Given the description of an element on the screen output the (x, y) to click on. 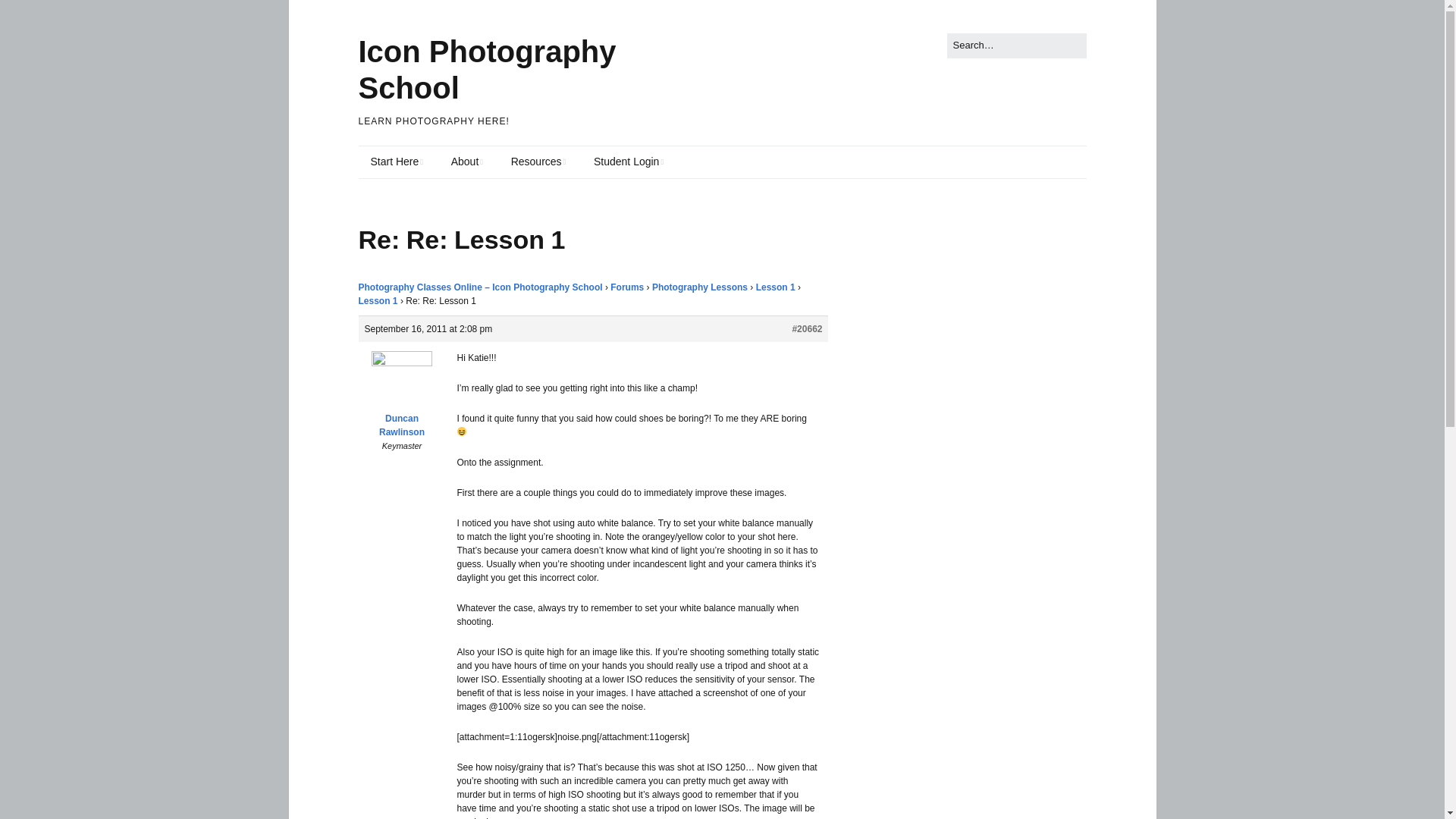
Forums (626, 286)
Press Enter to submit your search (1016, 45)
Photography Lessons (700, 286)
Resources (538, 162)
Icon Photography School (486, 69)
Duncan Rawlinson (401, 397)
About (467, 162)
Student Login (627, 162)
View Duncan Rawlinson's profile (401, 397)
Lesson 1 (377, 300)
Start Here (395, 162)
Lesson 1 (774, 286)
Search (29, 15)
